Given the description of an element on the screen output the (x, y) to click on. 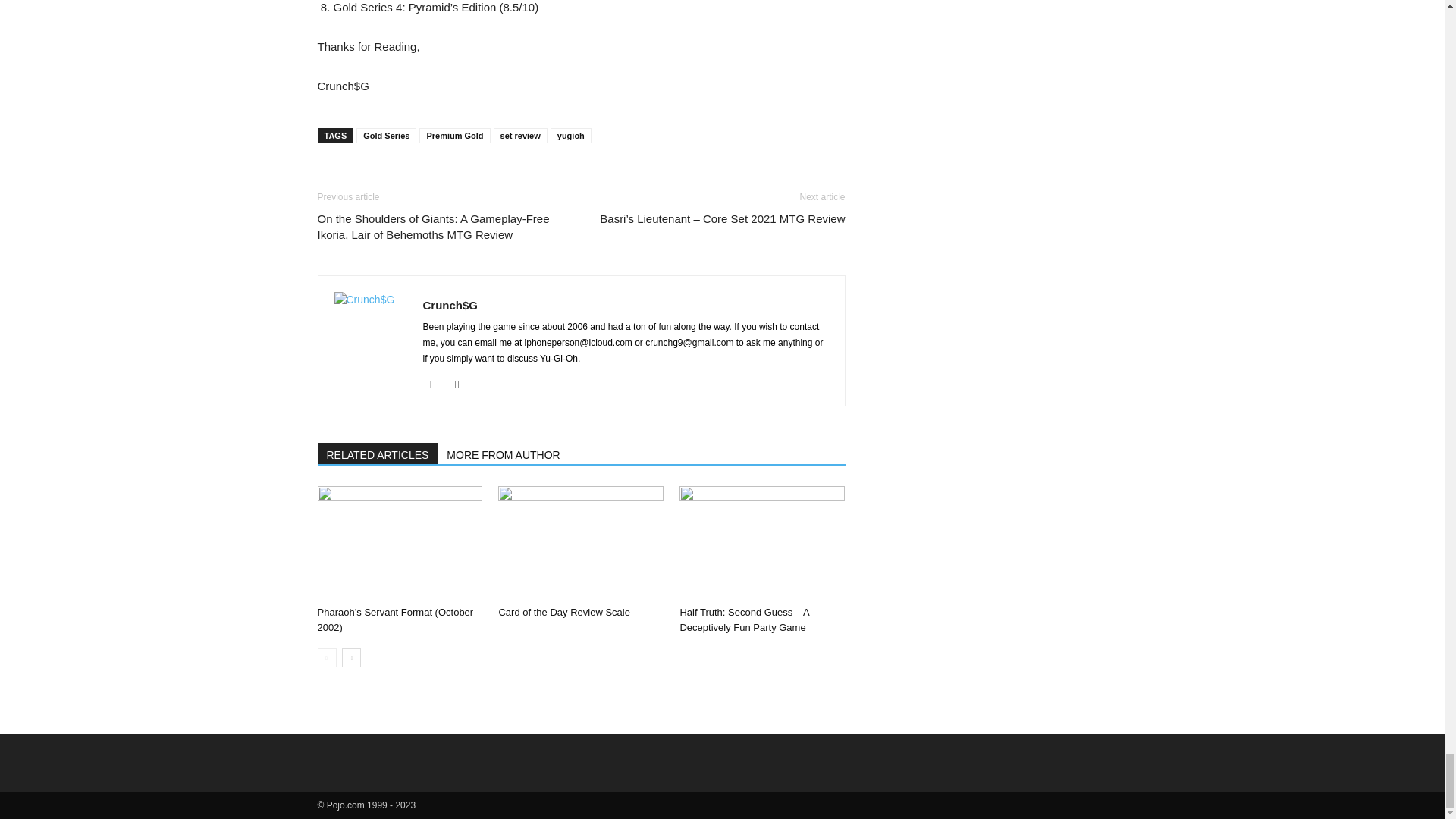
Card of the Day Review Scale (580, 542)
Twitter (462, 384)
Card of the Day Review Scale (562, 612)
bottomFacebookLike (430, 176)
Instagram (435, 384)
